Given the description of an element on the screen output the (x, y) to click on. 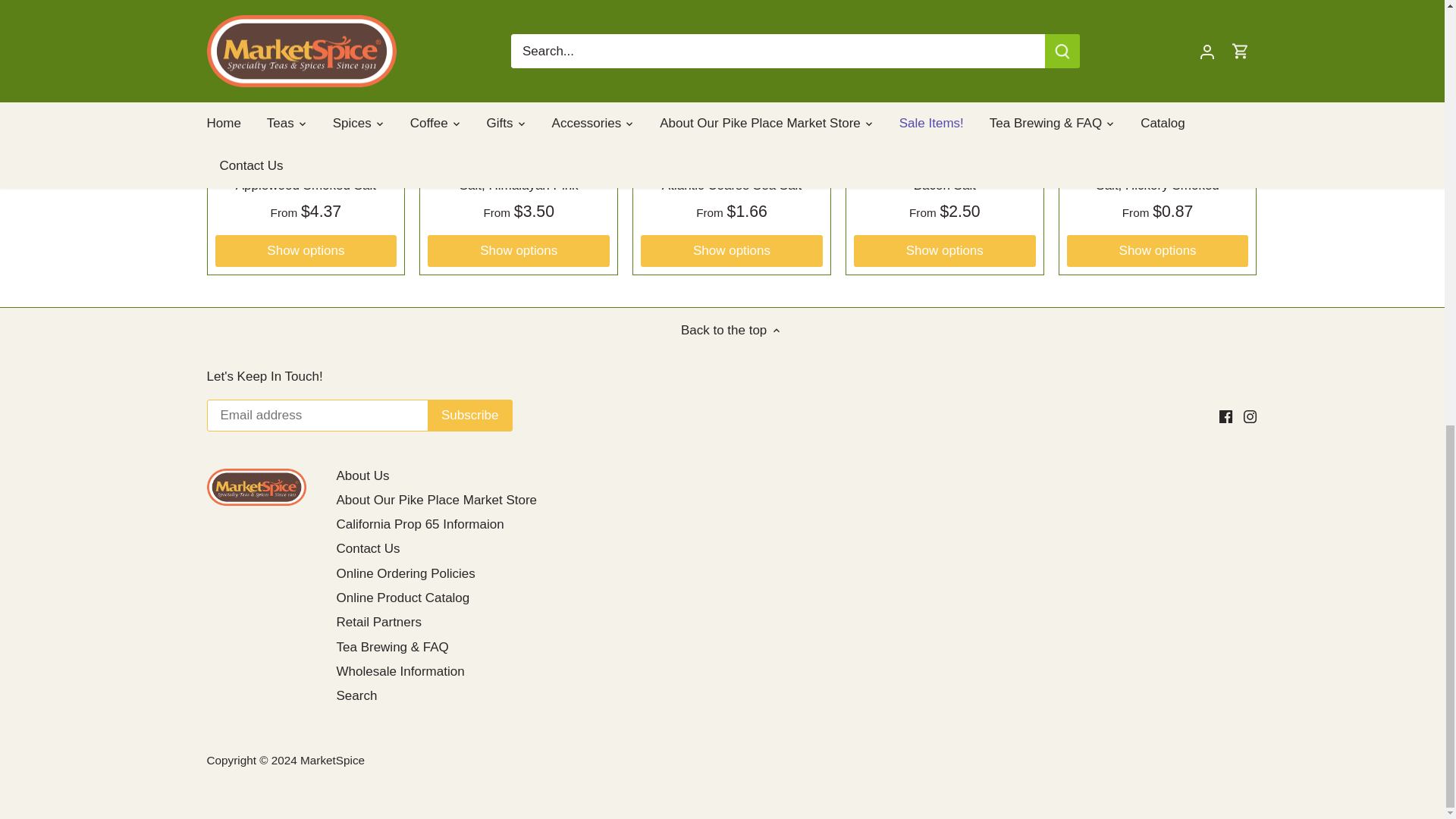
Instagram (1249, 416)
Facebook (1225, 416)
Subscribe (470, 415)
